Given the description of an element on the screen output the (x, y) to click on. 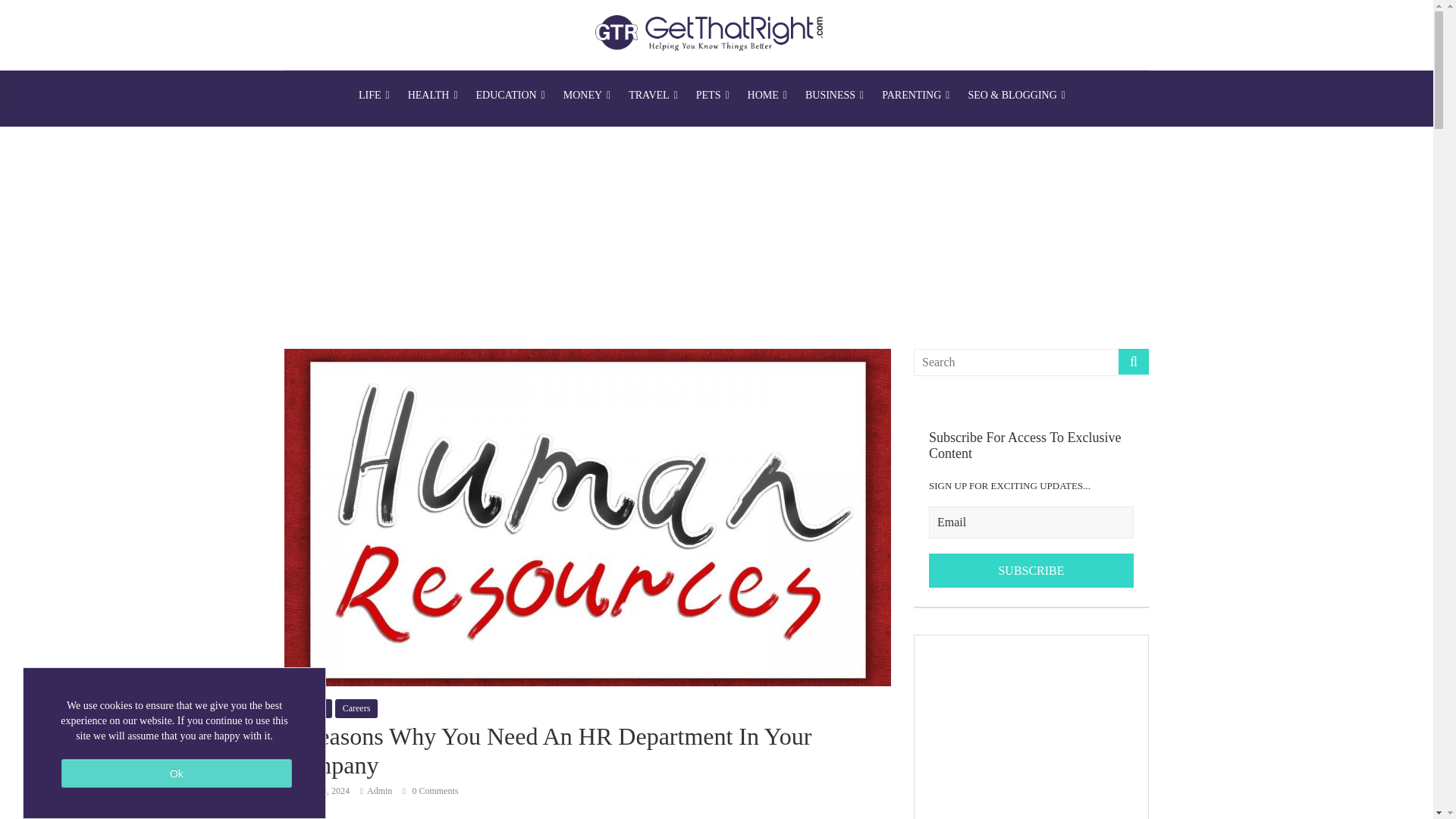
Advertisement (1030, 727)
MONEY (587, 95)
LIFE (373, 95)
Admin (378, 790)
EDUCATION (510, 95)
HOME (767, 95)
TRAVEL (653, 95)
Subscribe (1031, 570)
PETS (712, 95)
5:27 am (316, 790)
HEALTH (432, 95)
